Given the description of an element on the screen output the (x, y) to click on. 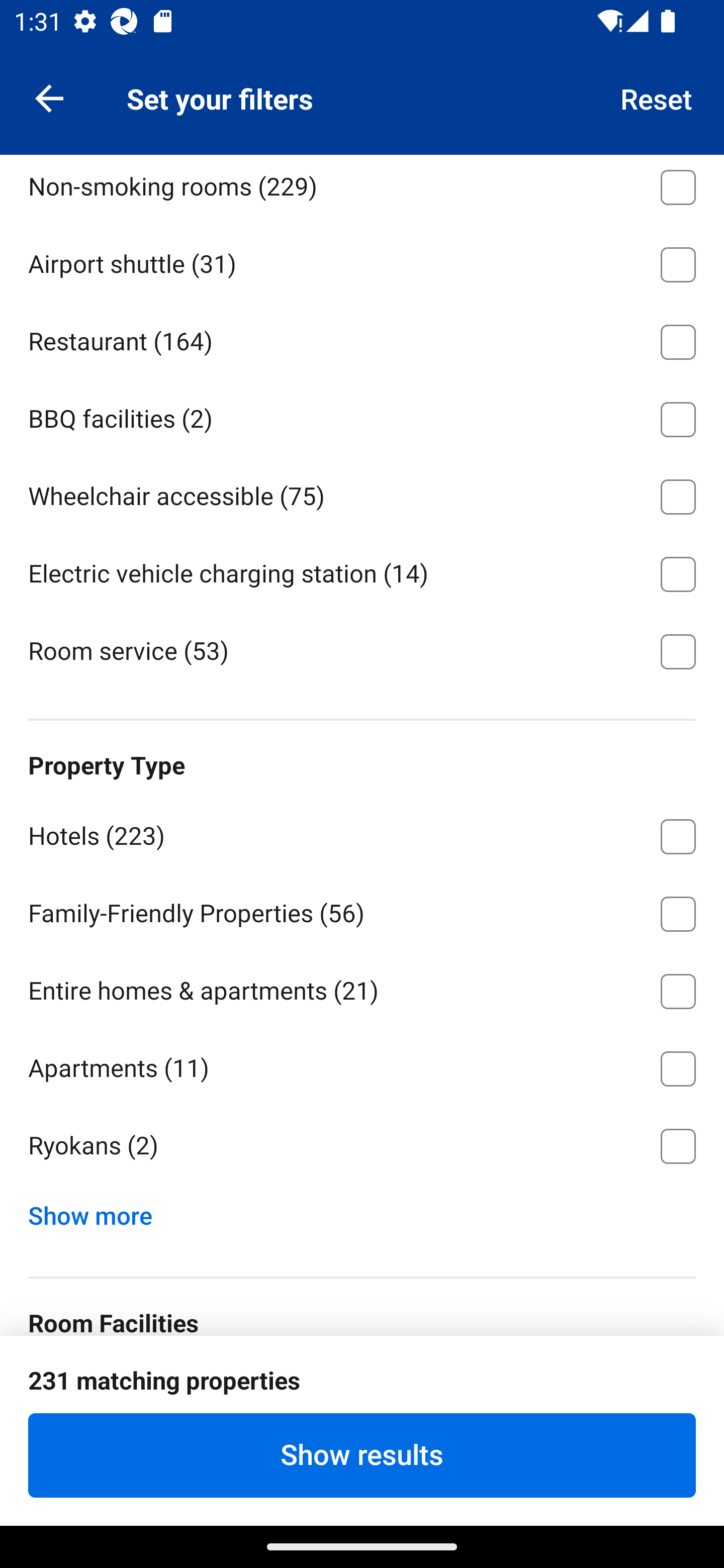
Navigate up (49, 97)
Reset (656, 97)
Fitness center ⁦(51) (361, 106)
Non-smoking rooms ⁦(229) (361, 188)
Airport shuttle ⁦(31) (361, 260)
Restaurant ⁦(164) (361, 338)
BBQ facilities ⁦(2) (361, 415)
Wheelchair accessible ⁦(75) (361, 492)
Electric vehicle charging station ⁦(14) (361, 570)
Room service ⁦(53) (361, 649)
Hotels ⁦(223) (361, 832)
Family-Friendly Properties ⁦(56) (361, 909)
Entire homes & apartments ⁦(21) (361, 987)
Apartments ⁦(11) (361, 1065)
Ryokans ⁦(2) (361, 1145)
Show more (97, 1211)
Air conditioning ⁦(229) (361, 1390)
Show results (361, 1454)
